Given the description of an element on the screen output the (x, y) to click on. 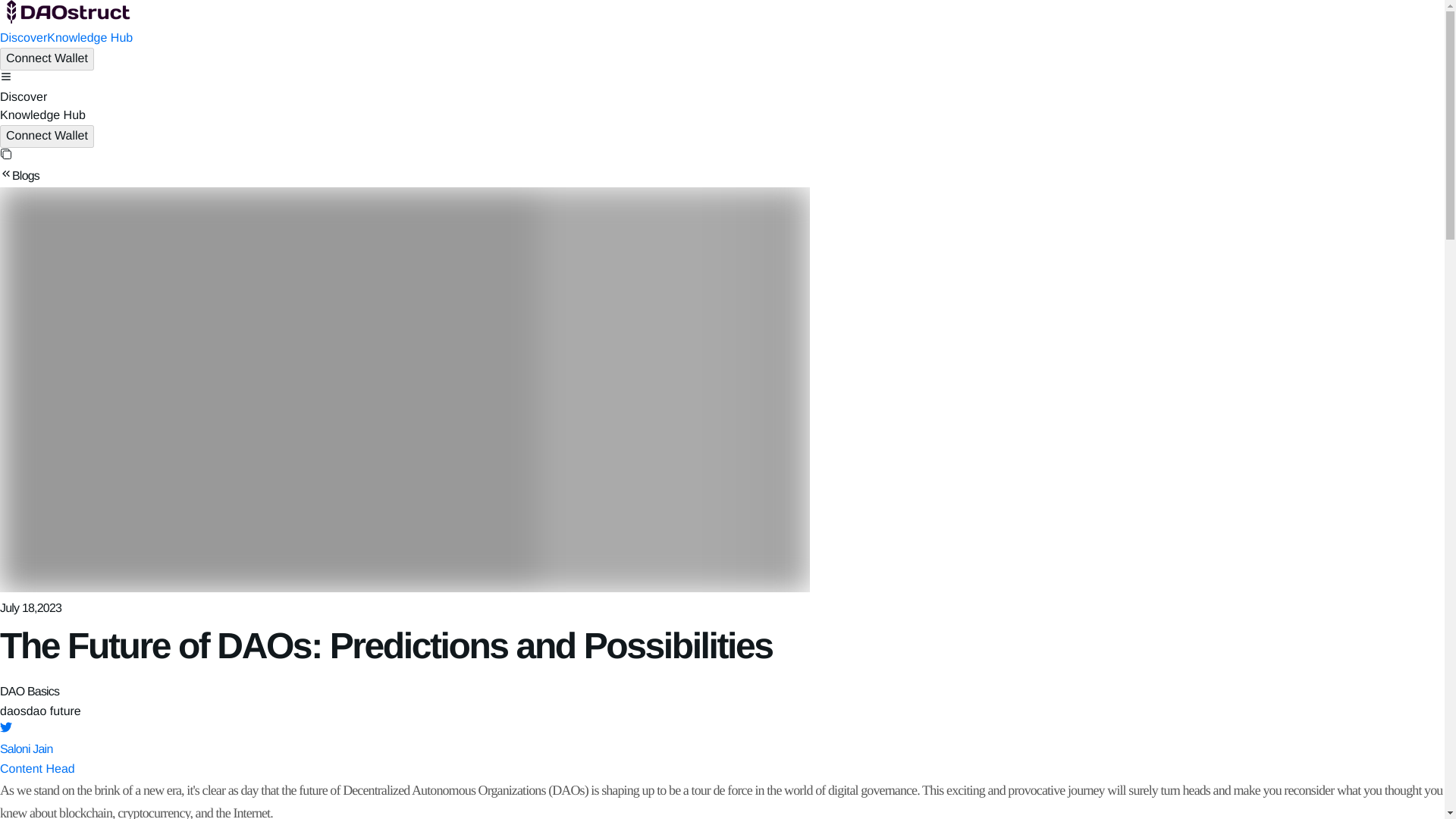
Connect Wallet (47, 136)
Connect Wallet (47, 58)
Discover (23, 38)
Knowledge Hub (89, 38)
